Given the description of an element on the screen output the (x, y) to click on. 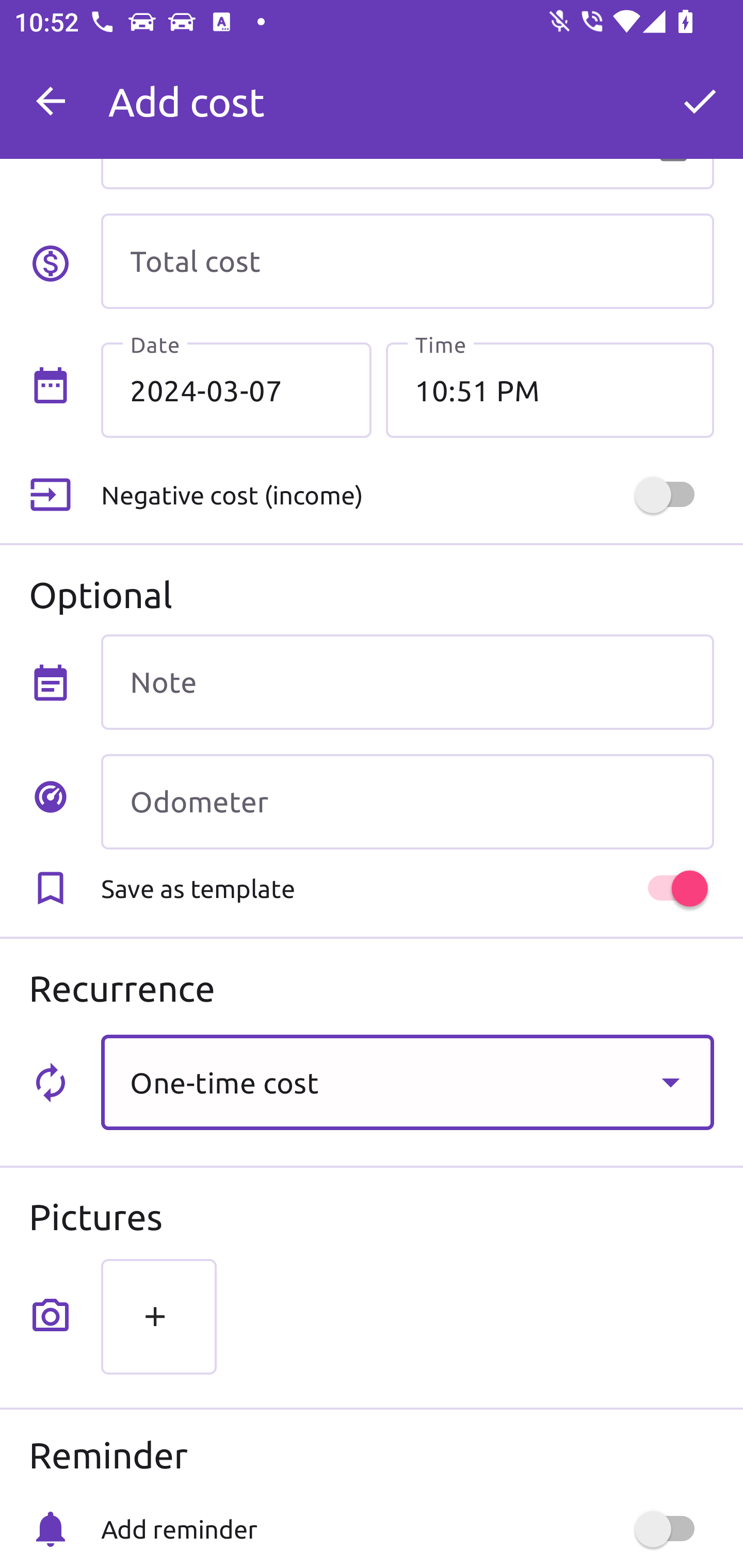
M My Car 0 km (407, 92)
Navigate up (50, 101)
OK (699, 101)
Total cost  (407, 260)
2024-03-07 (236, 389)
10:51 PM (549, 389)
Negative cost (income) (407, 494)
Note (407, 682)
Odometer (407, 801)
Save as template (407, 887)
One-time cost (407, 1082)
Show dropdown menu (670, 1081)
Add reminder (407, 1529)
